Given the description of an element on the screen output the (x, y) to click on. 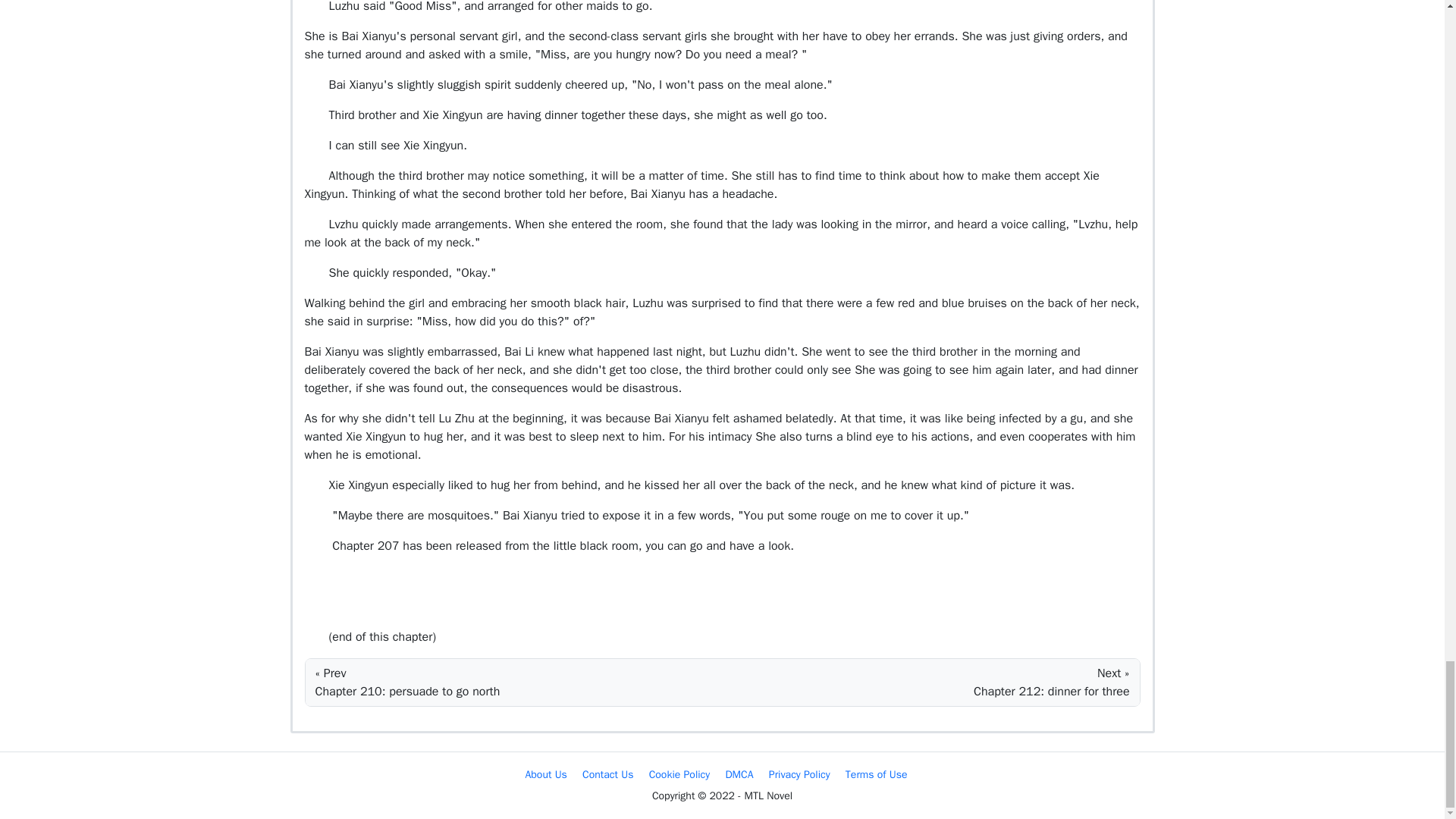
Privacy Policy (798, 774)
DMCA (738, 774)
Terms of Use (876, 774)
About Us (545, 774)
Contact Us (607, 774)
Terms of Use (876, 774)
Contact Us (607, 774)
Cookie Policy (679, 774)
Cookie Policy (679, 774)
Privacy Policy (798, 774)
About Us (545, 774)
DMCA (738, 774)
